Given the description of an element on the screen output the (x, y) to click on. 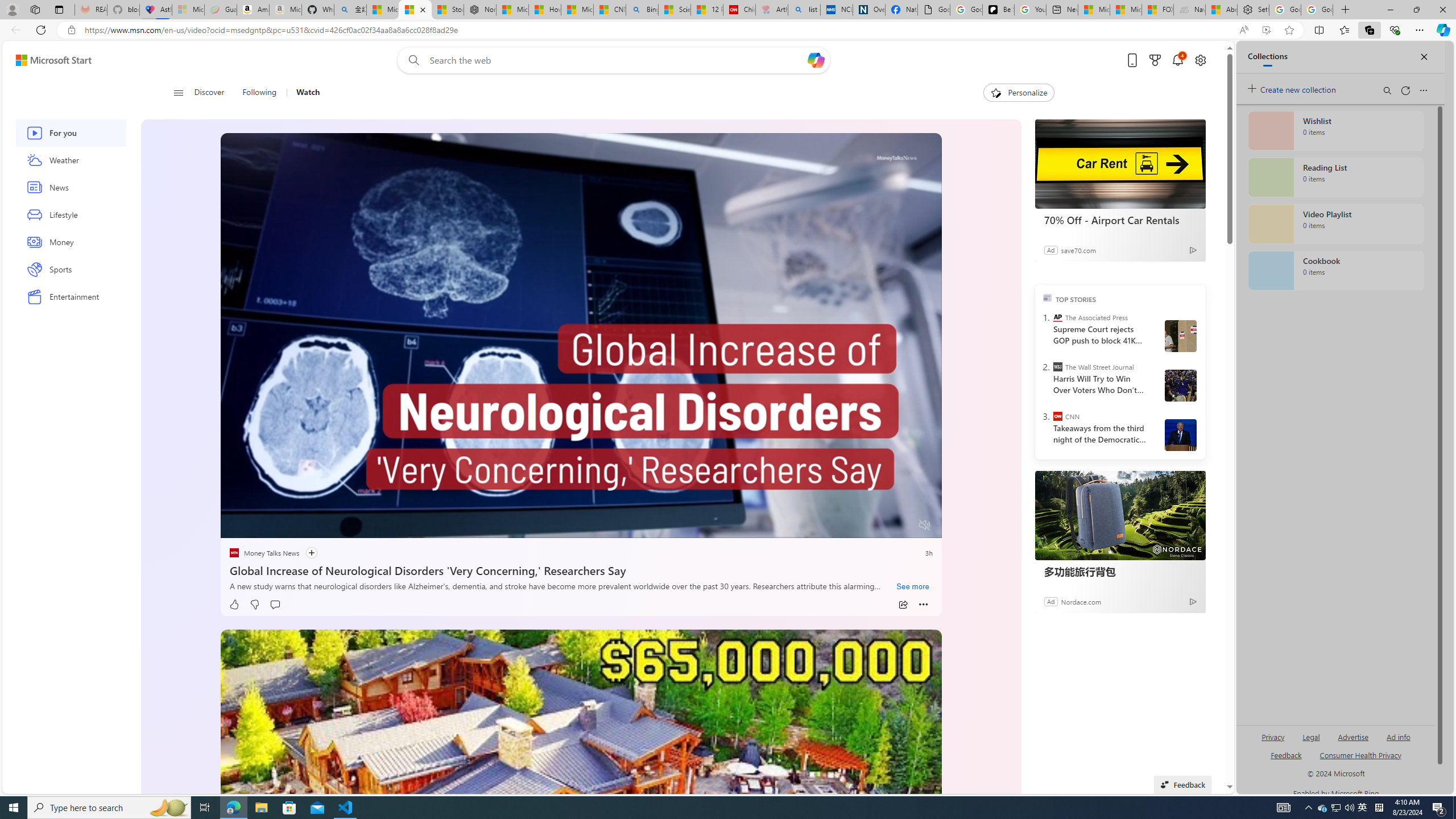
AutomationID: genId96 (1285, 759)
Progress Bar (581, 510)
The Associated Press (1057, 316)
